Given the description of an element on the screen output the (x, y) to click on. 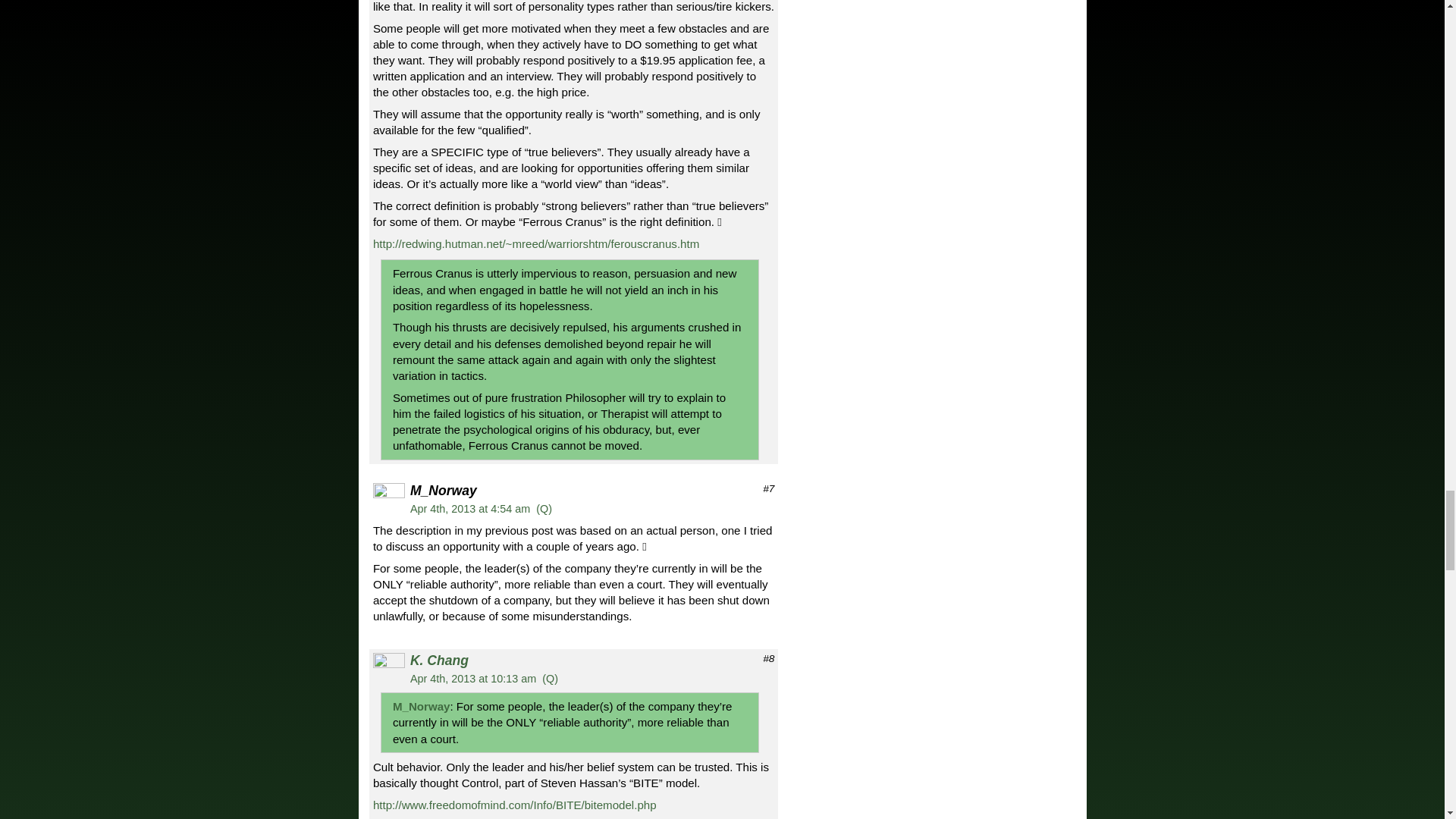
Apr 4th, 2013 at 10:13 am (472, 678)
K. Chang (439, 660)
Apr 4th, 2013 at 4:54 am (469, 508)
